Given the description of an element on the screen output the (x, y) to click on. 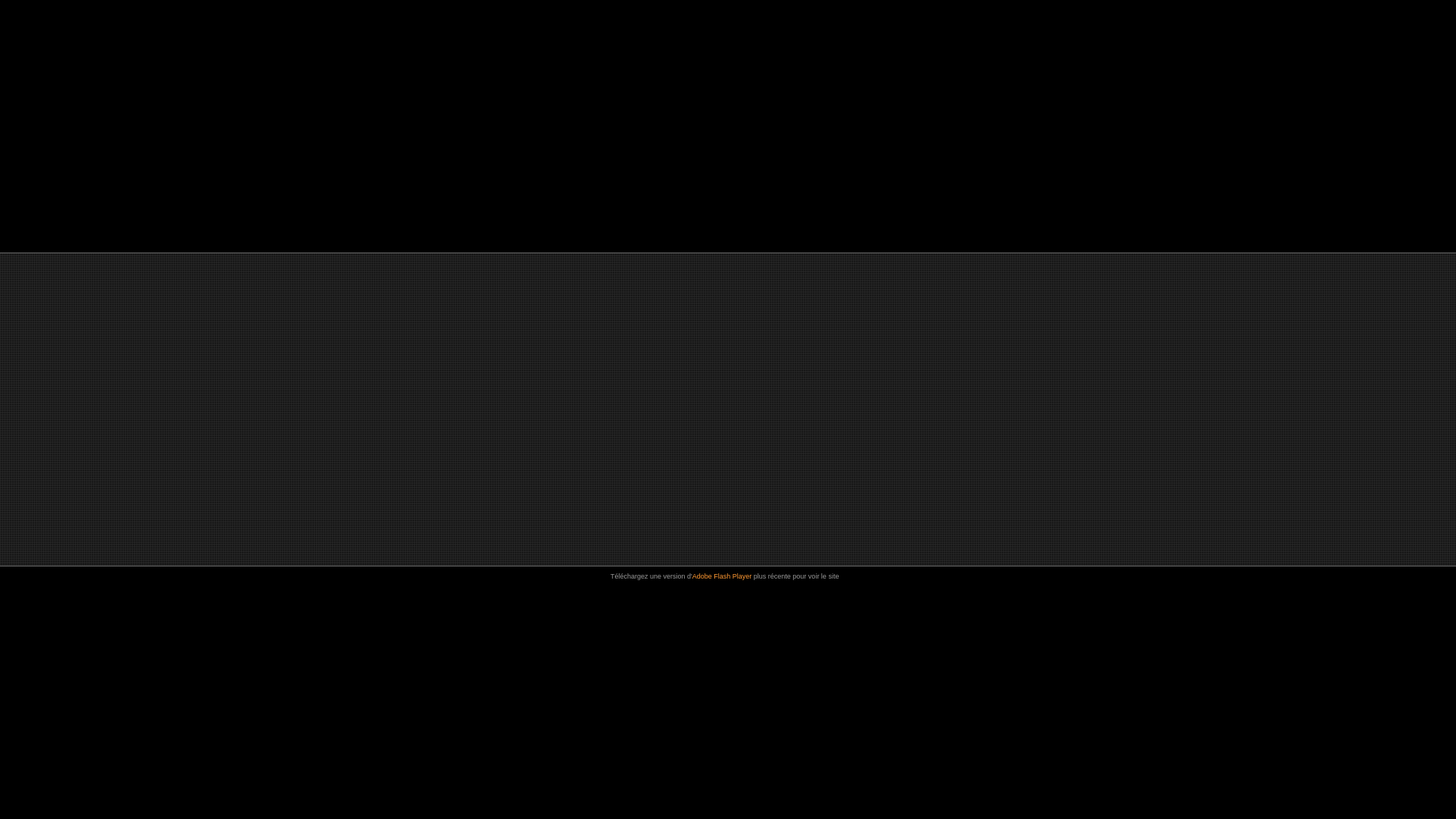
Adobe Flash Player Element type: text (722, 576)
